Given the description of an element on the screen output the (x, y) to click on. 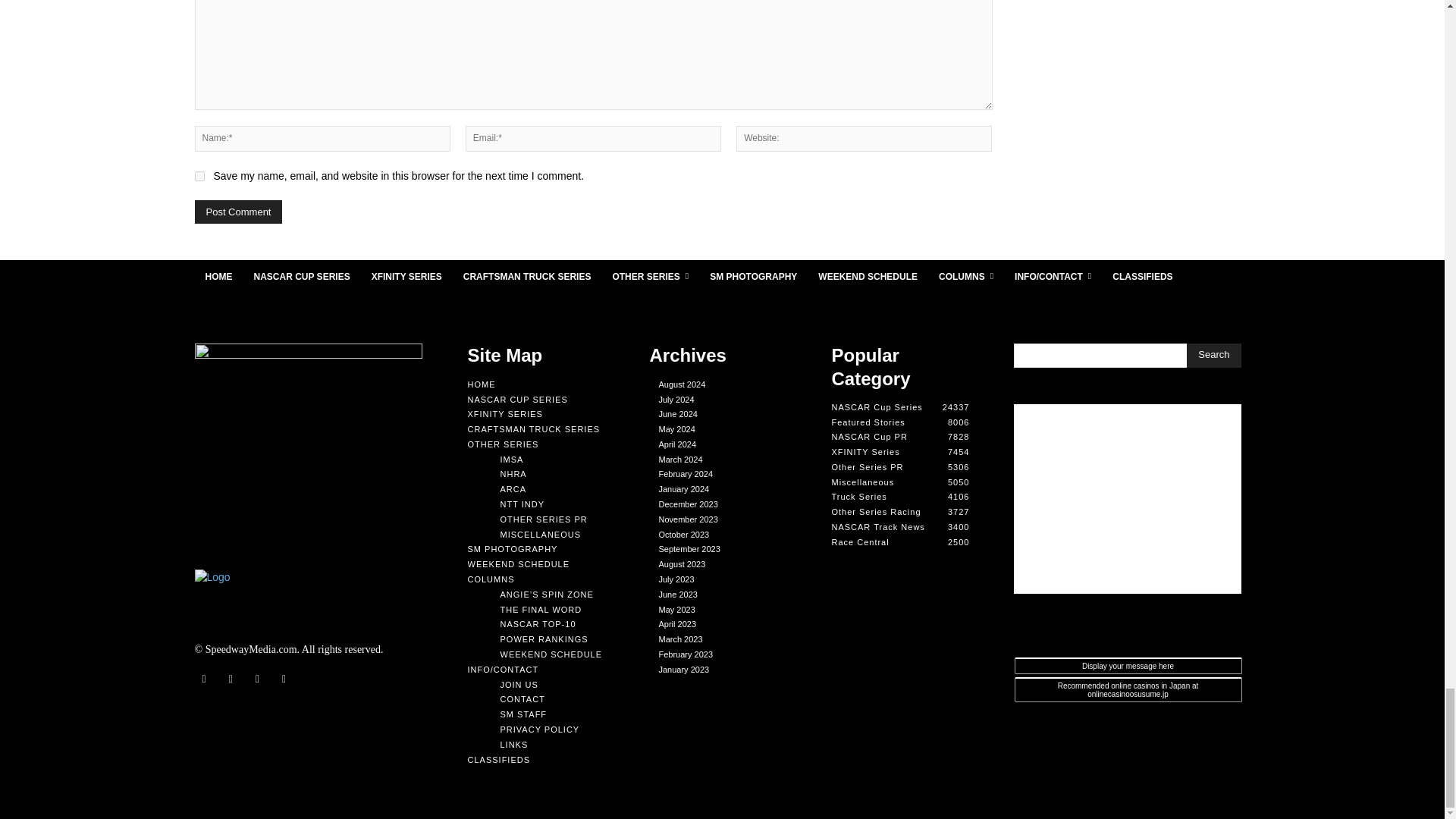
Post Comment (237, 211)
yes (198, 175)
